Given the description of an element on the screen output the (x, y) to click on. 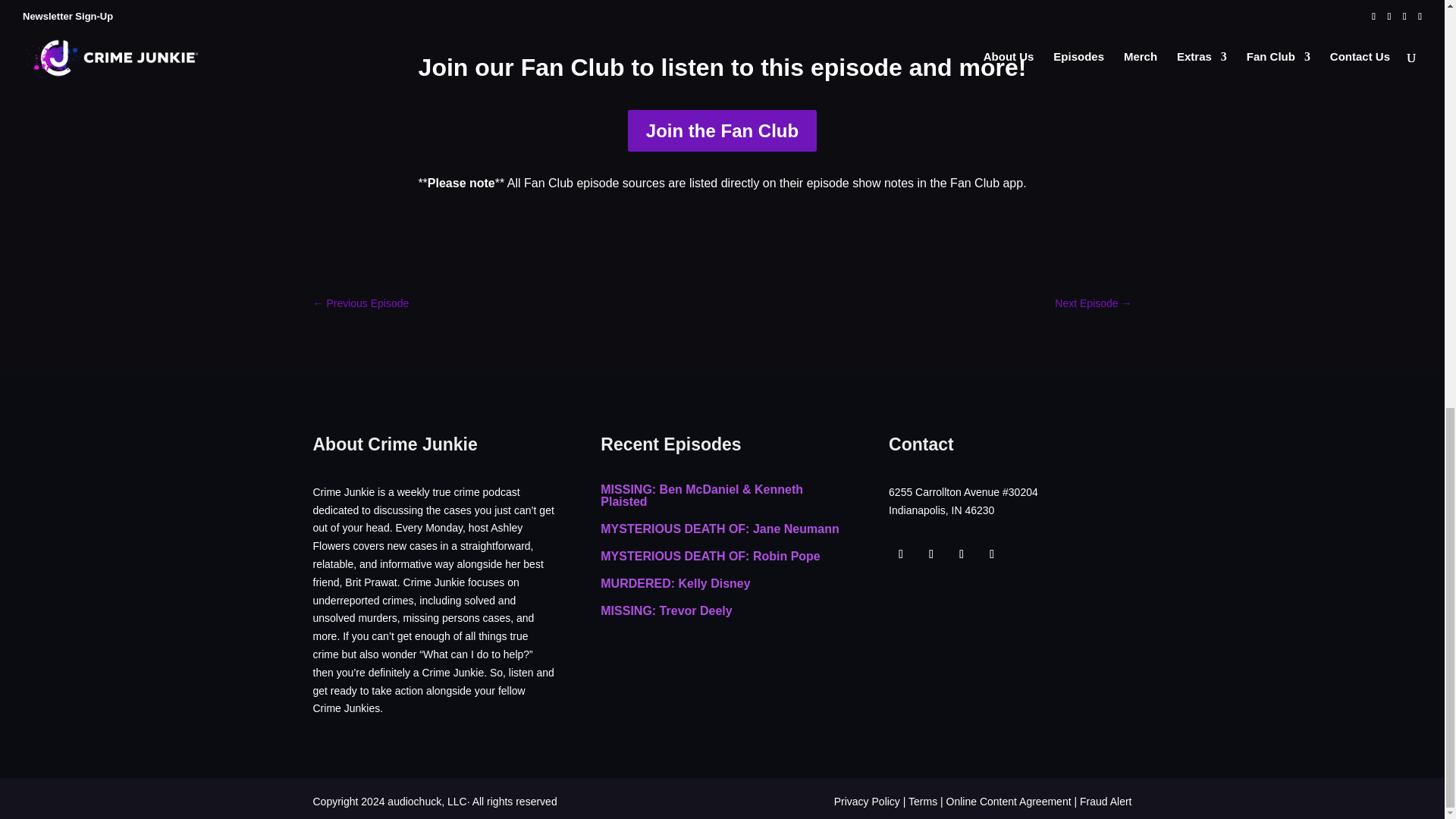
Follow on X (930, 554)
Follow on Youtube (991, 554)
Follow on Facebook (900, 554)
Follow on Instagram (961, 554)
